Given the description of an element on the screen output the (x, y) to click on. 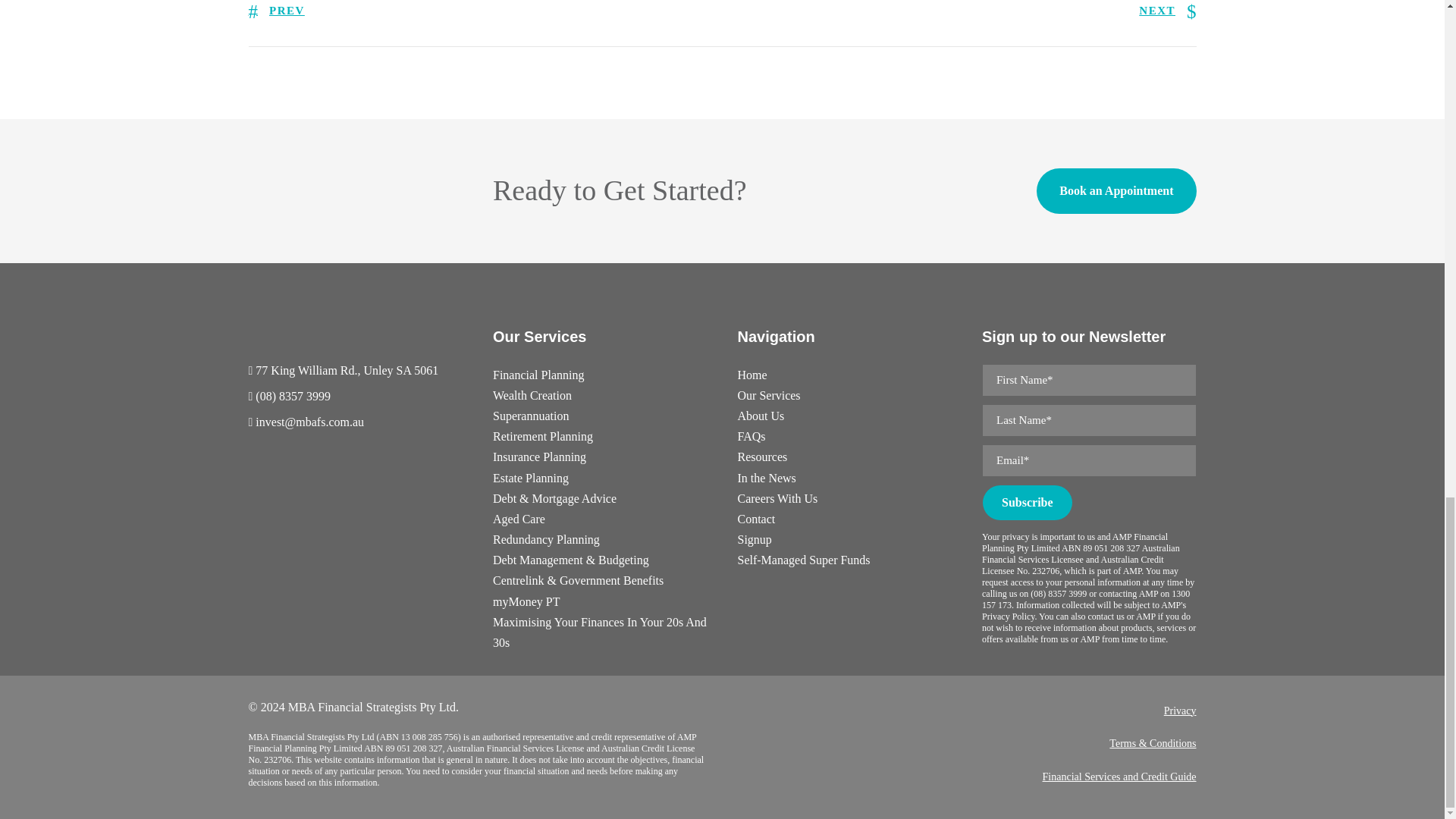
Subscribe (1026, 502)
